Given the description of an element on the screen output the (x, y) to click on. 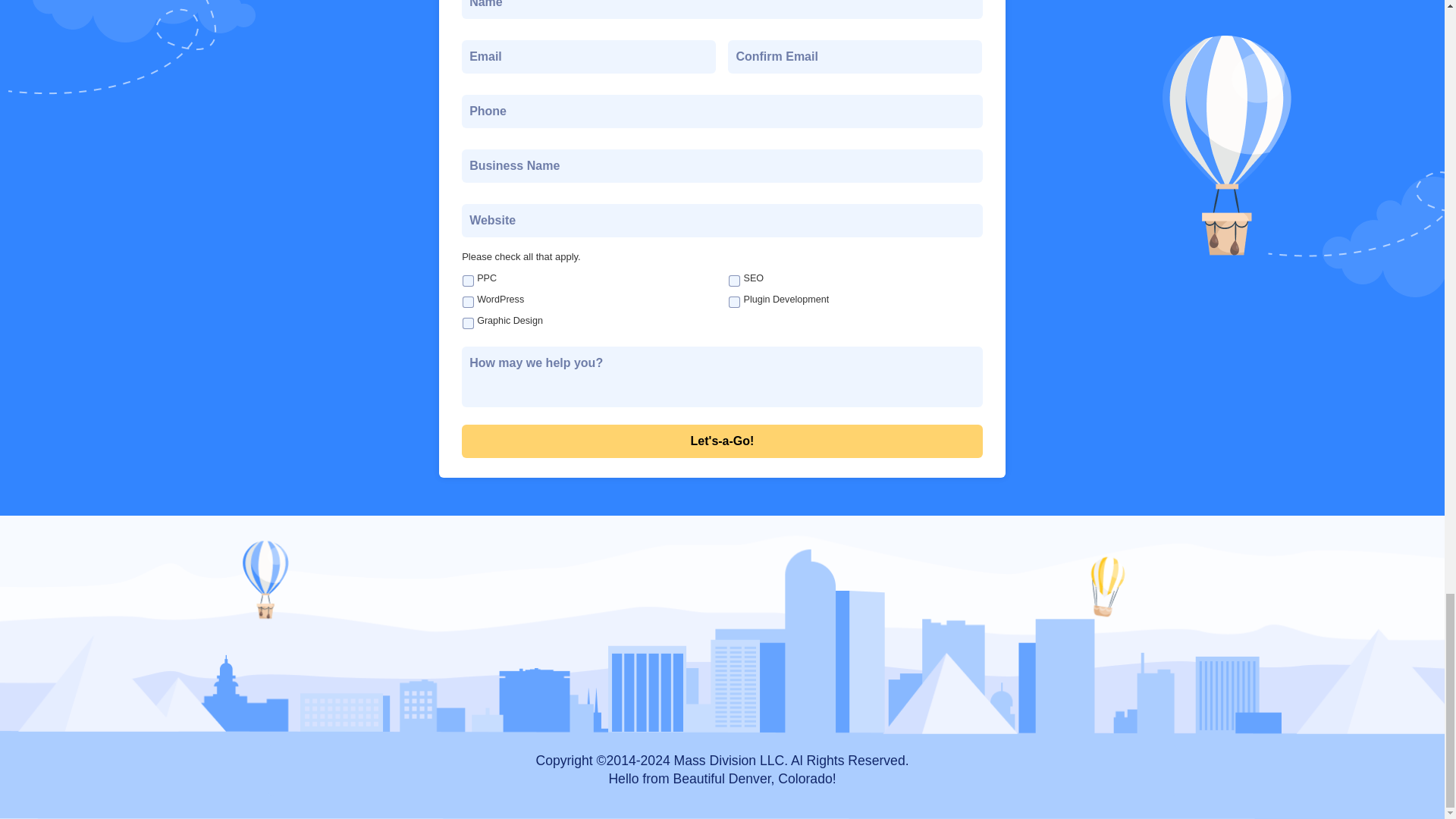
PPC (468, 280)
SEO (734, 280)
Let's-a-Go! (721, 441)
Wordpress (468, 301)
Plugin Development (734, 301)
Let's-a-Go! (721, 441)
Graphic Design (468, 323)
